Given the description of an element on the screen output the (x, y) to click on. 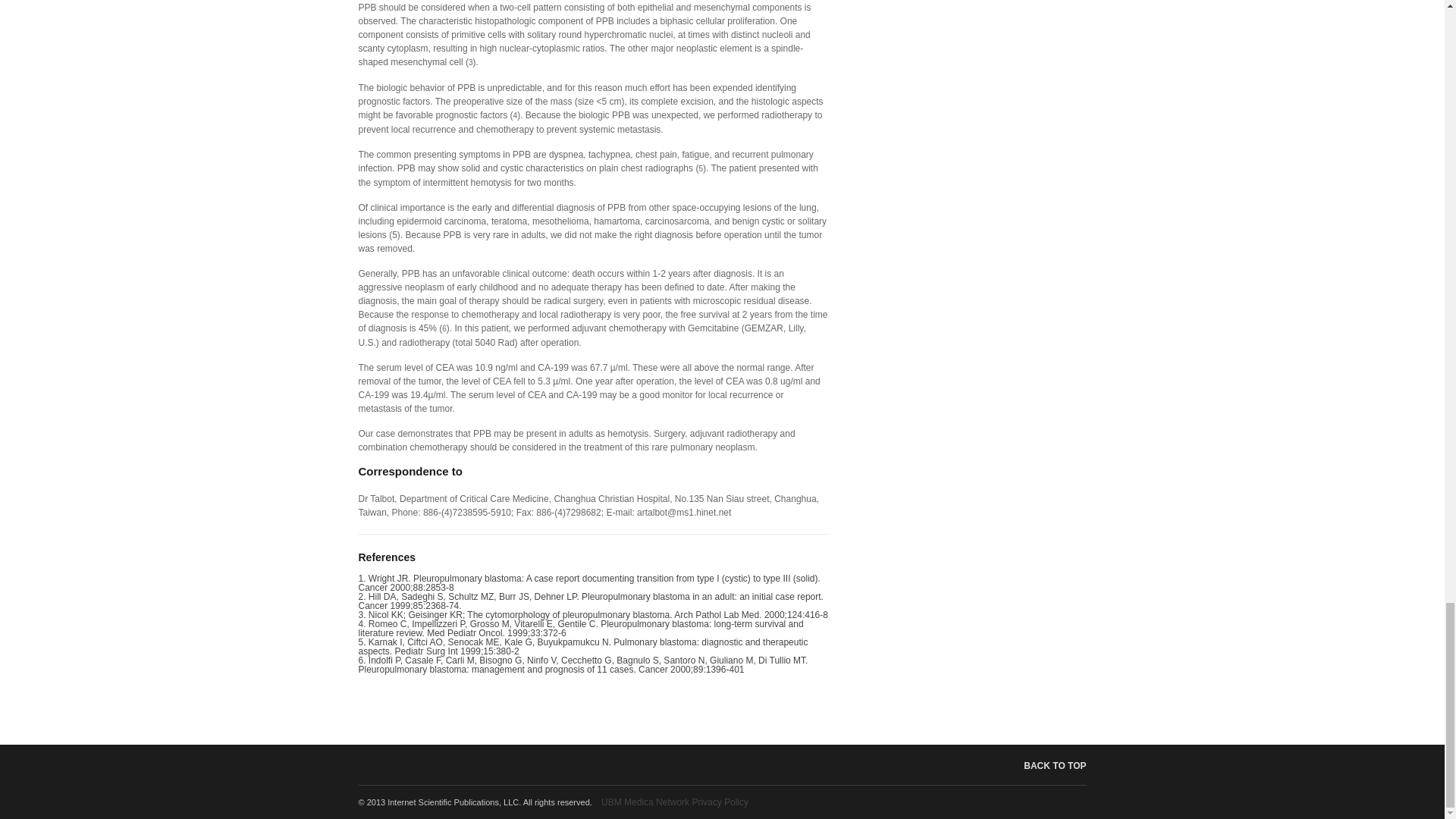
BACK TO TOP (1043, 765)
Google Plus (1080, 802)
Facebook (1062, 802)
UBM Medica Network Privacy Policy (674, 801)
